Given the description of an element on the screen output the (x, y) to click on. 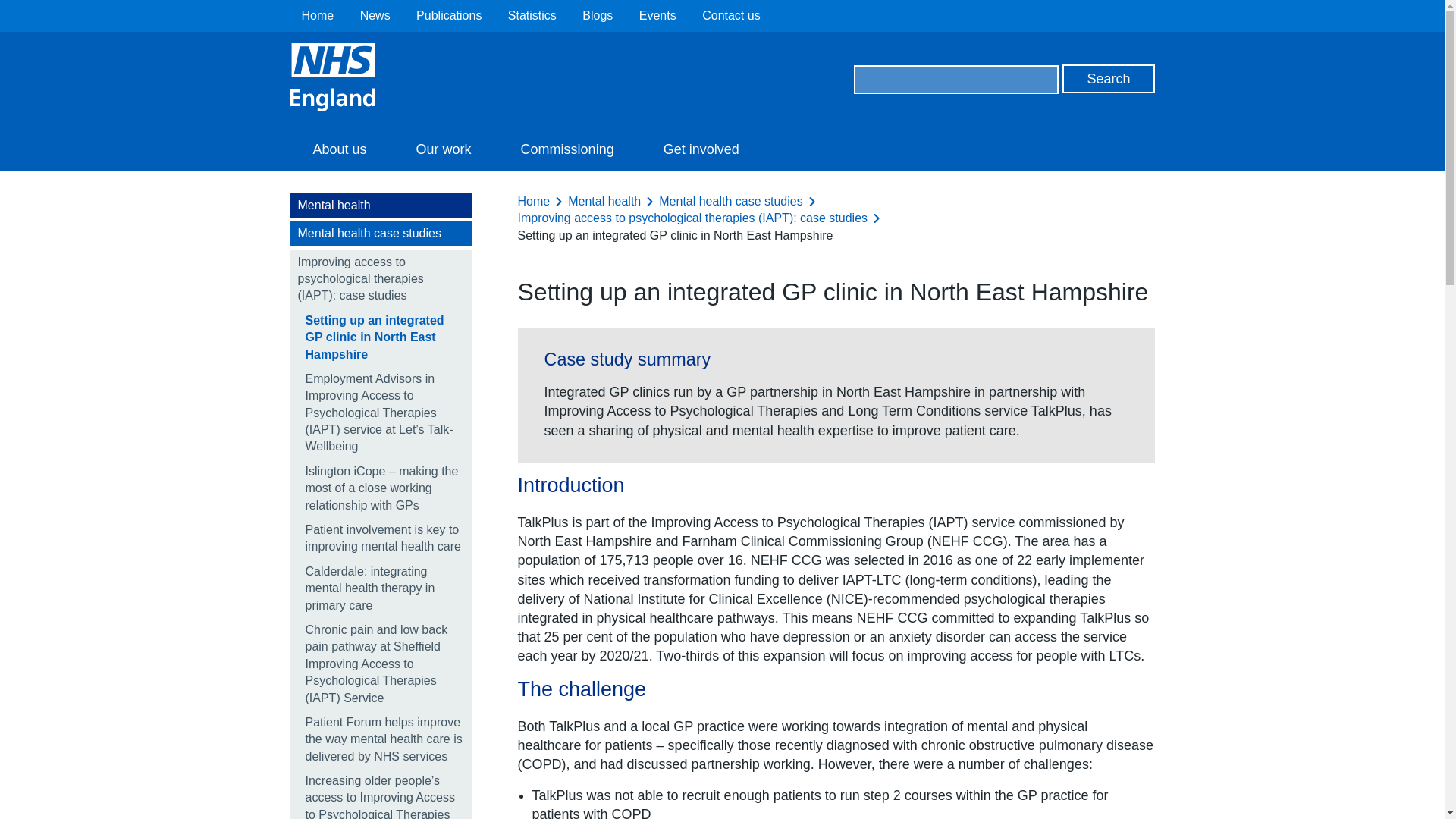
News (374, 15)
Mental health (380, 205)
Home (317, 15)
Search (1108, 78)
Statistics (532, 15)
Home (317, 15)
Search (1108, 78)
Get involved (700, 149)
Our work (444, 149)
